Given the description of an element on the screen output the (x, y) to click on. 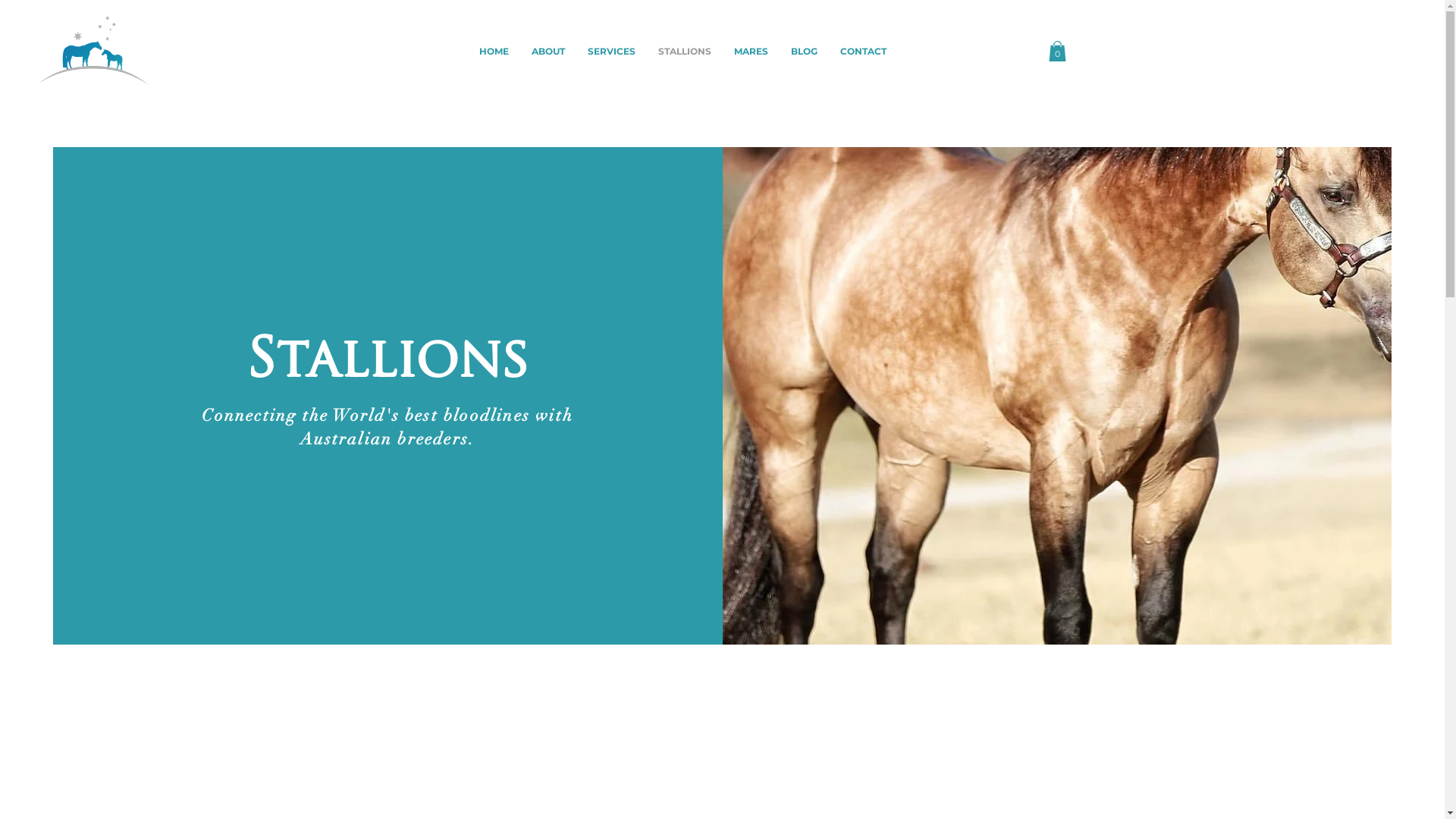
STALLIONS Element type: text (684, 50)
ABOUT Element type: text (548, 50)
MARES Element type: text (750, 50)
BLOG Element type: text (803, 50)
HOME Element type: text (493, 50)
0 Element type: text (1056, 50)
CONTACT Element type: text (862, 50)
SERVICES Element type: text (611, 50)
